Given the description of an element on the screen output the (x, y) to click on. 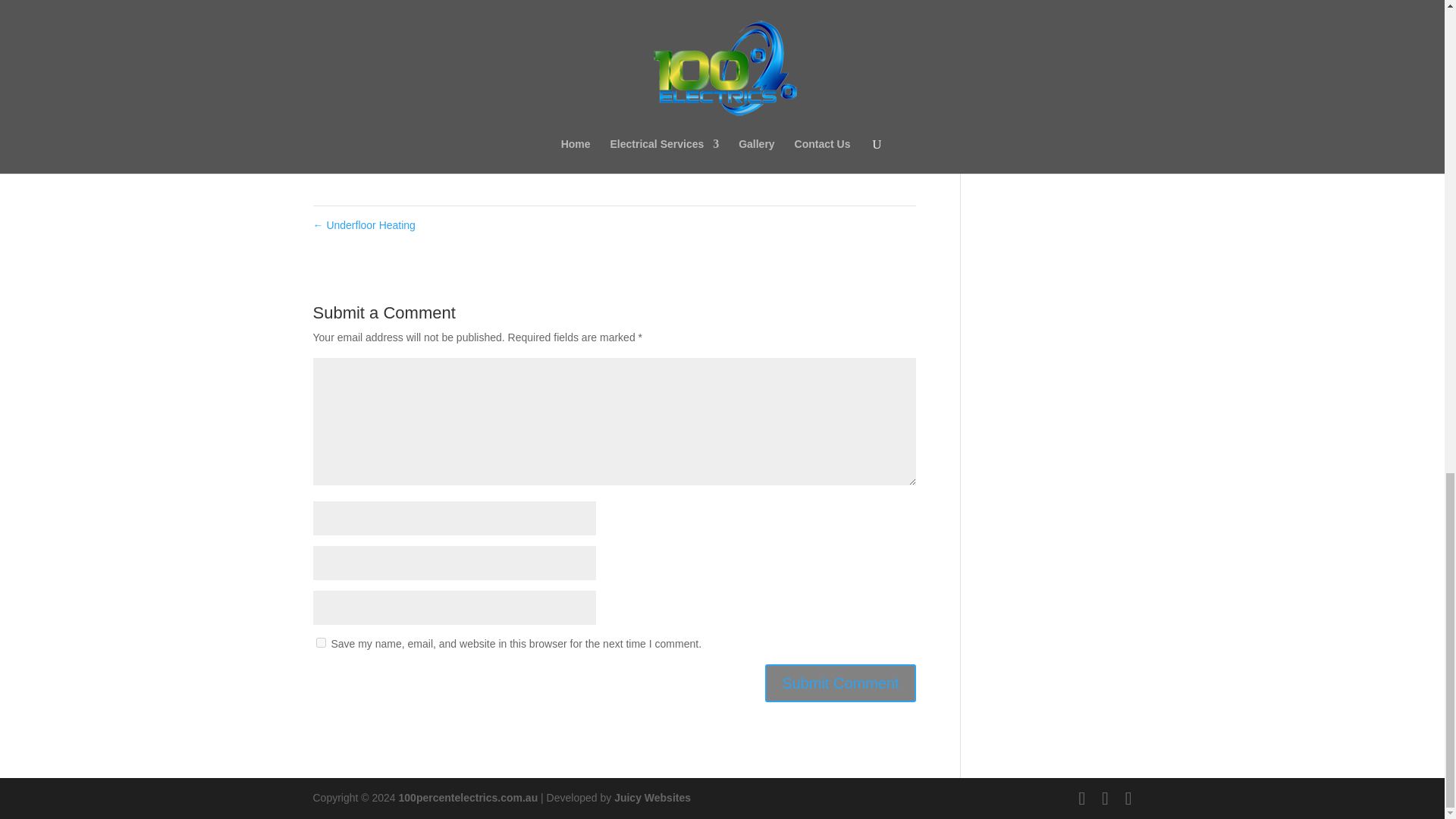
100percentelectrics.com.au (468, 797)
Juicy Websites (652, 797)
yes (319, 642)
Submit Comment (840, 682)
Submit Comment (840, 682)
